Given the description of an element on the screen output the (x, y) to click on. 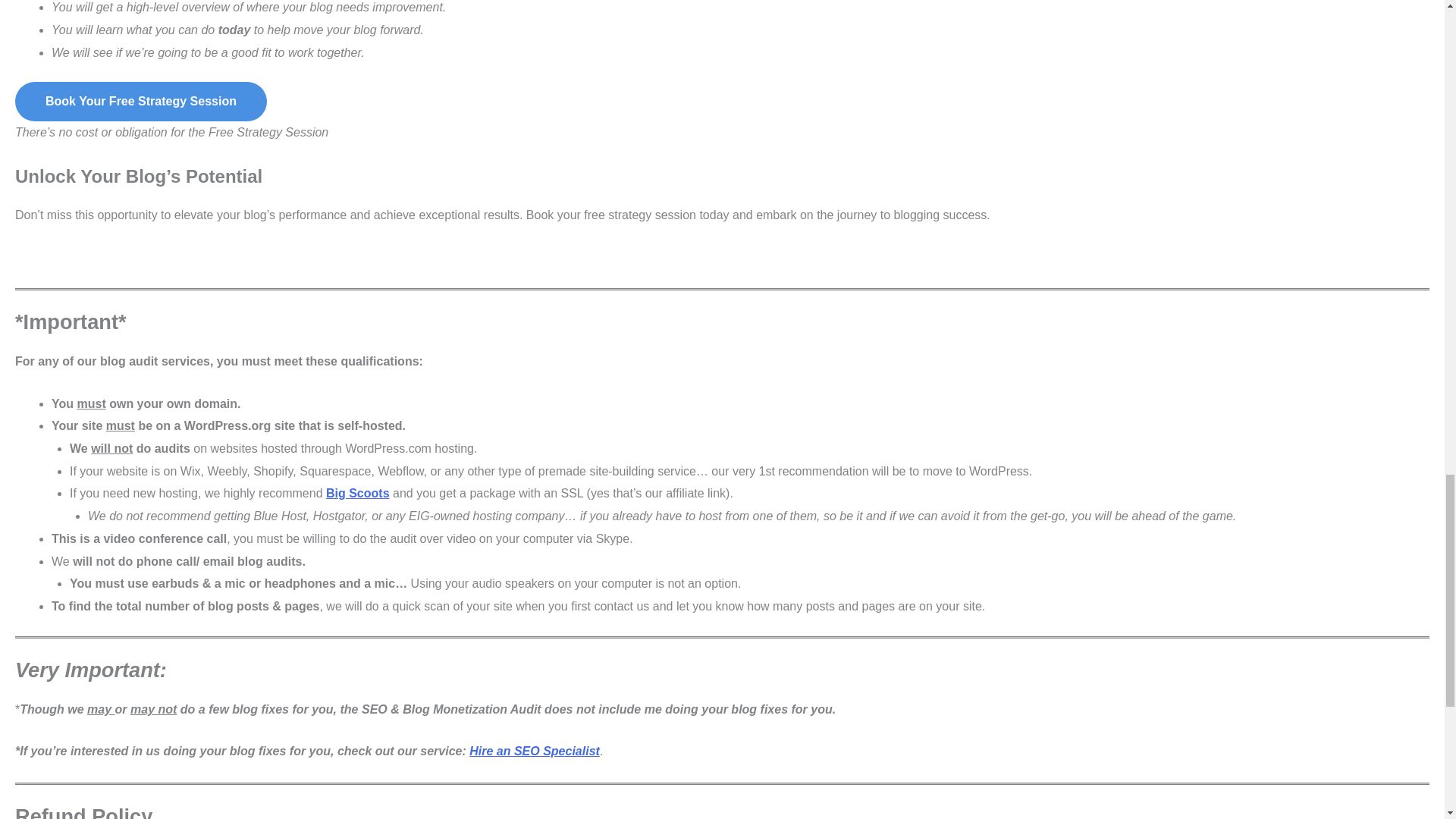
Big Scoots (358, 492)
Hire an SEO Specialist (533, 750)
Book Your Free Strategy Session (140, 101)
